Given the description of an element on the screen output the (x, y) to click on. 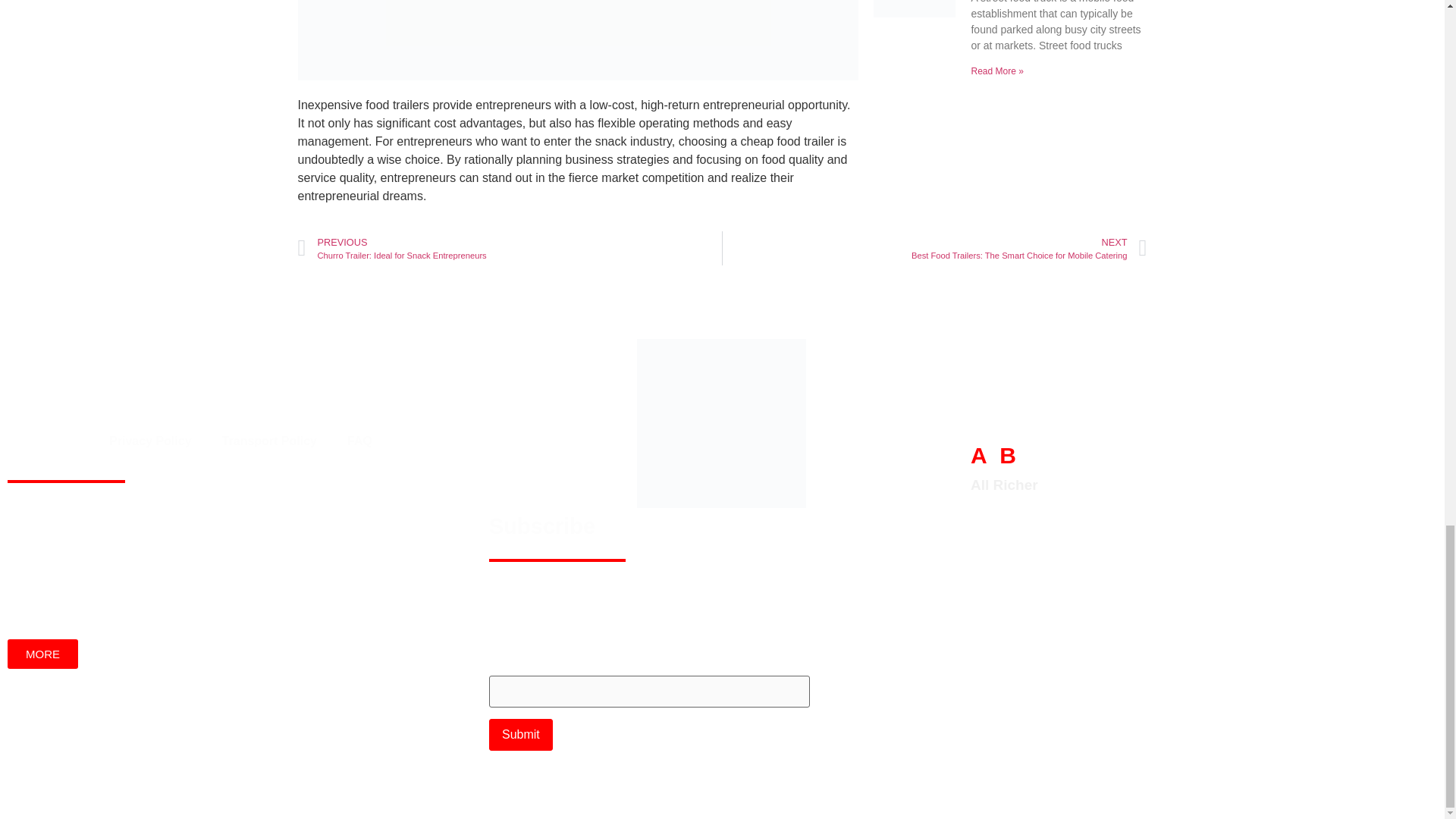
Submit (521, 735)
